Given the description of an element on the screen output the (x, y) to click on. 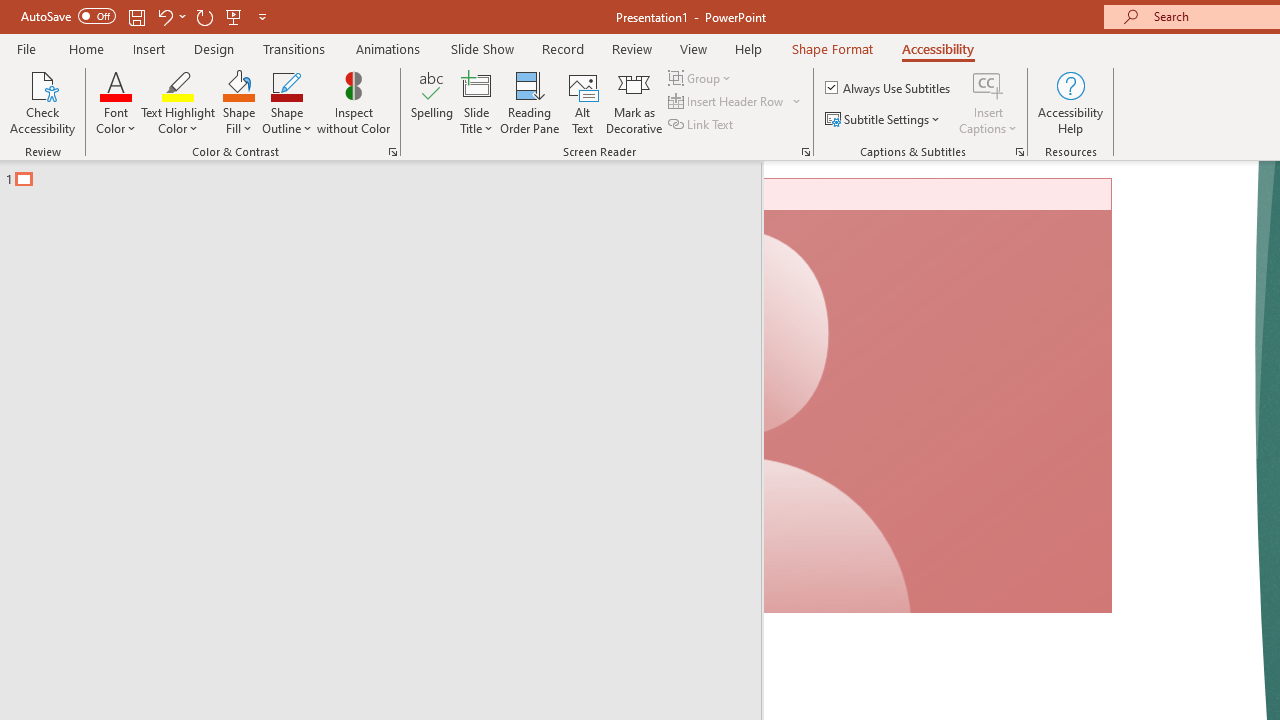
View (1087, 84)
Strikethrough (312, 180)
Zotero (1166, 84)
Sort... (1054, 137)
Font Color Red (556, 180)
Subscript (350, 180)
Bullets (727, 137)
Superscript (390, 180)
Shading RGB(0, 0, 0) (982, 180)
Italic (212, 180)
Character Border (656, 137)
AutoSave (140, 31)
Decrease Indent (906, 137)
OfficePLUS (233, 84)
Font (234, 137)
